Given the description of an element on the screen output the (x, y) to click on. 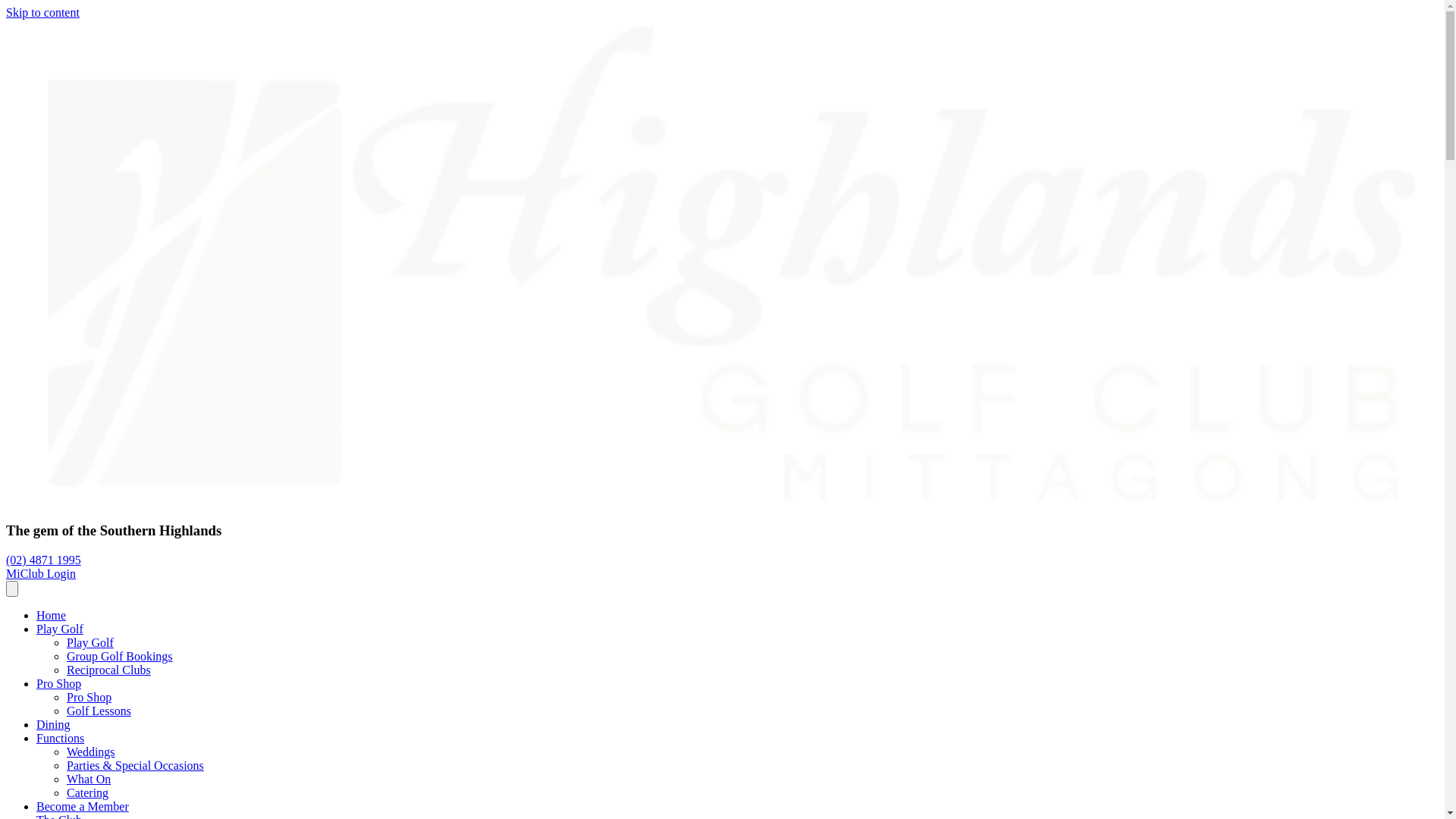
Pro Shop Element type: text (58, 683)
Play Golf Element type: text (89, 642)
Functions Element type: text (60, 737)
Dining Element type: text (52, 724)
Pro Shop Element type: text (88, 696)
(02) 4871 1995 Element type: text (43, 559)
Play Golf Element type: text (59, 628)
Reciprocal Clubs Element type: text (108, 669)
Skip to content Element type: text (42, 12)
Group Golf Bookings Element type: text (119, 655)
Catering Element type: text (87, 792)
MiClub Login Element type: text (40, 573)
Weddings Element type: text (90, 751)
Become a Member Element type: text (82, 806)
Home Element type: text (50, 614)
What On Element type: text (88, 778)
Parties & Special Occasions Element type: text (134, 765)
Golf Lessons Element type: text (98, 710)
